Given the description of an element on the screen output the (x, y) to click on. 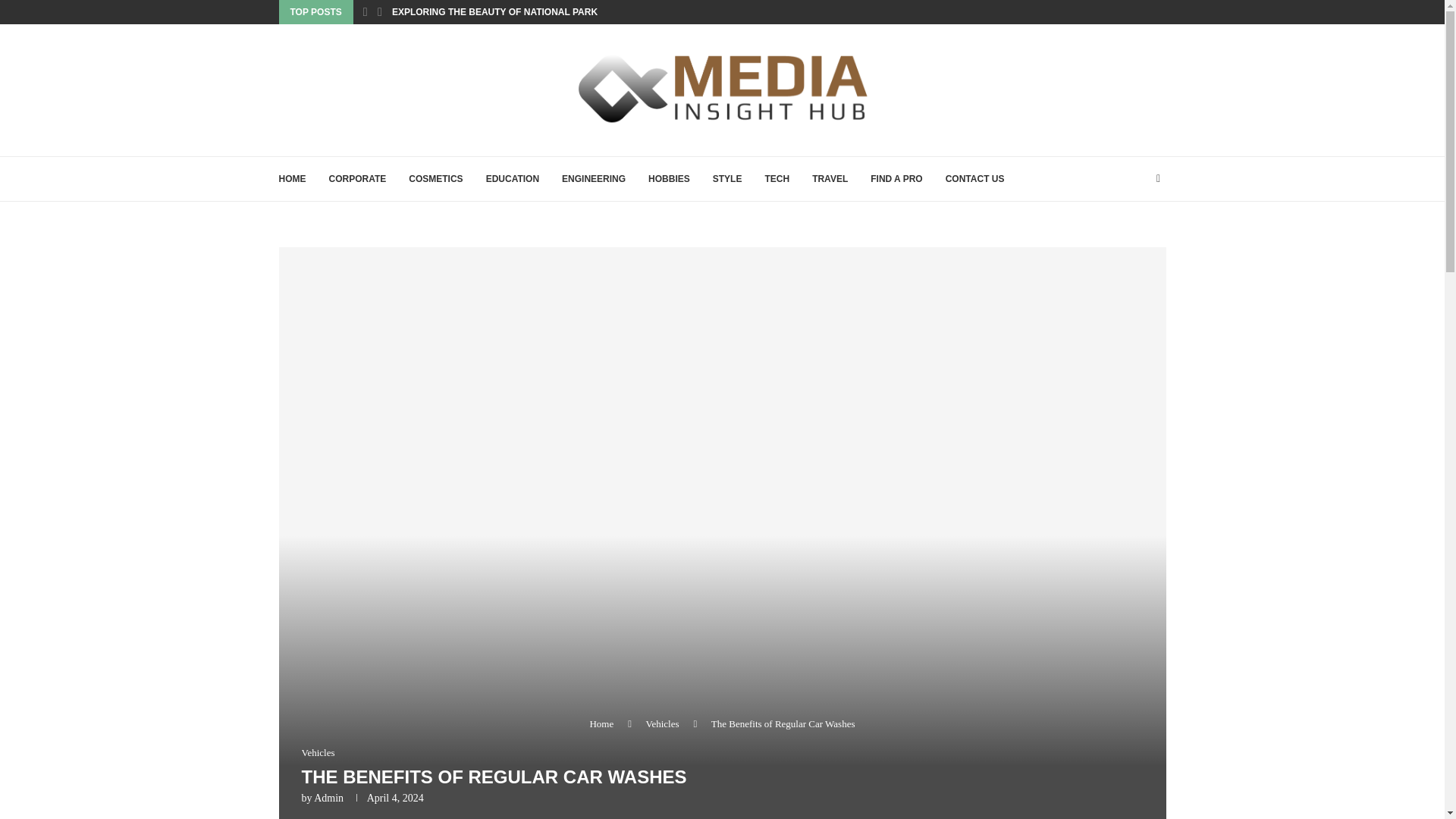
Home (600, 723)
ENGINEERING (594, 178)
FIND A PRO (895, 178)
CONTACT US (974, 178)
Vehicles (662, 723)
CORPORATE (358, 178)
EXPLORING THE BEAUTY OF NATIONAL PARKS IN THE... (517, 12)
EDUCATION (512, 178)
HOBBIES (668, 178)
COSMETICS (436, 178)
